Given the description of an element on the screen output the (x, y) to click on. 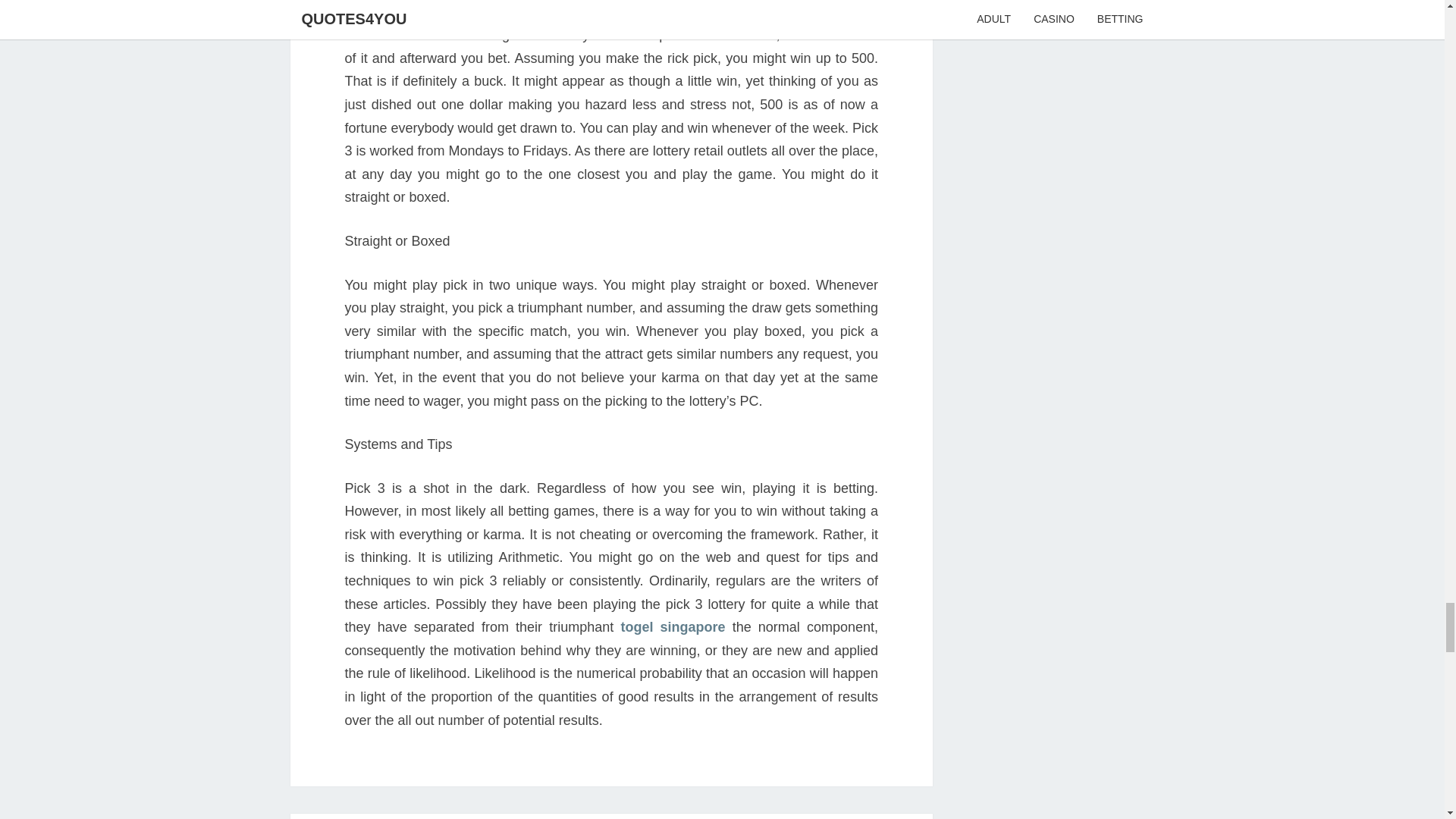
togel singapore (672, 626)
